Given the description of an element on the screen output the (x, y) to click on. 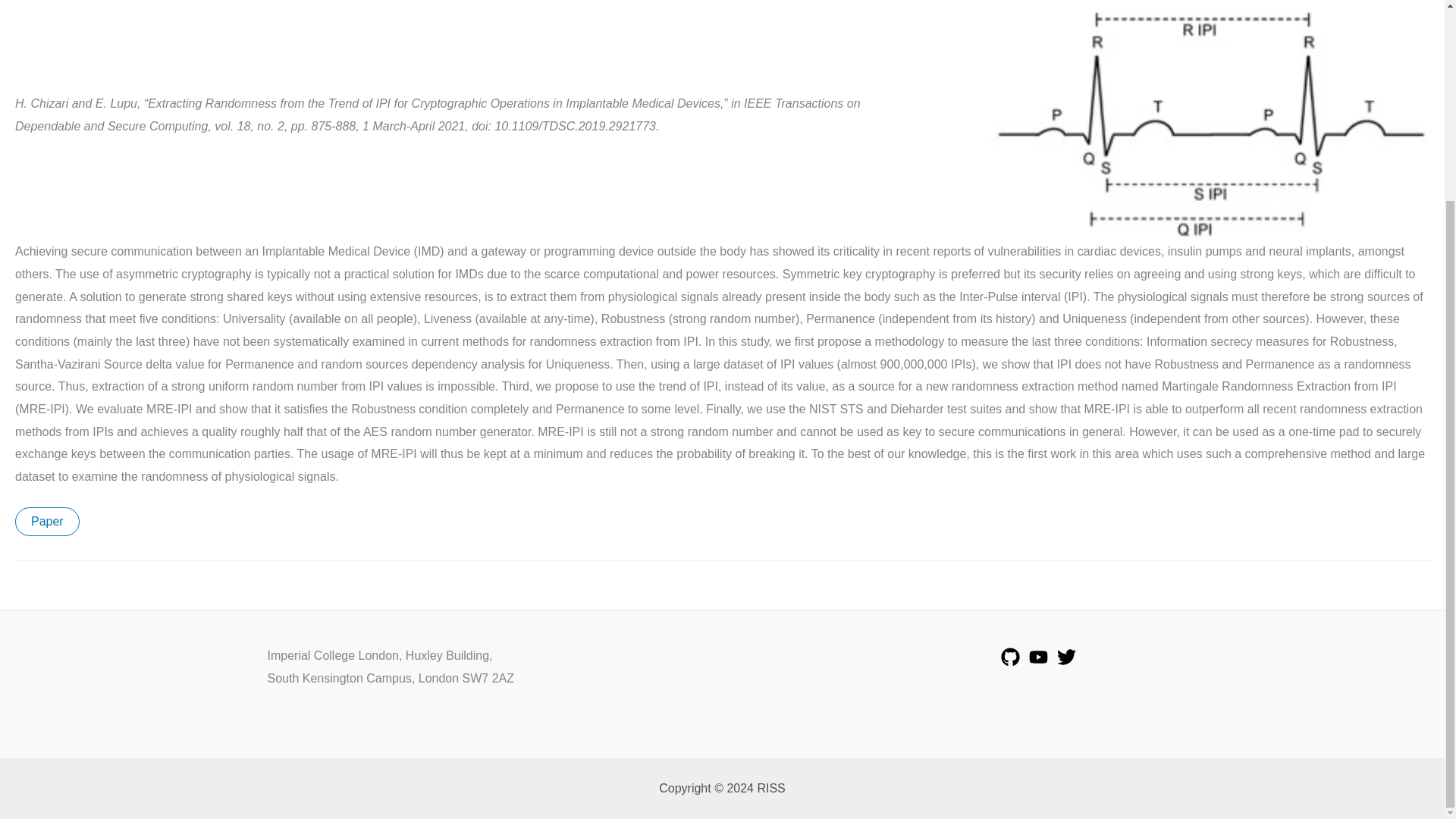
Paper (47, 521)
